Given the description of an element on the screen output the (x, y) to click on. 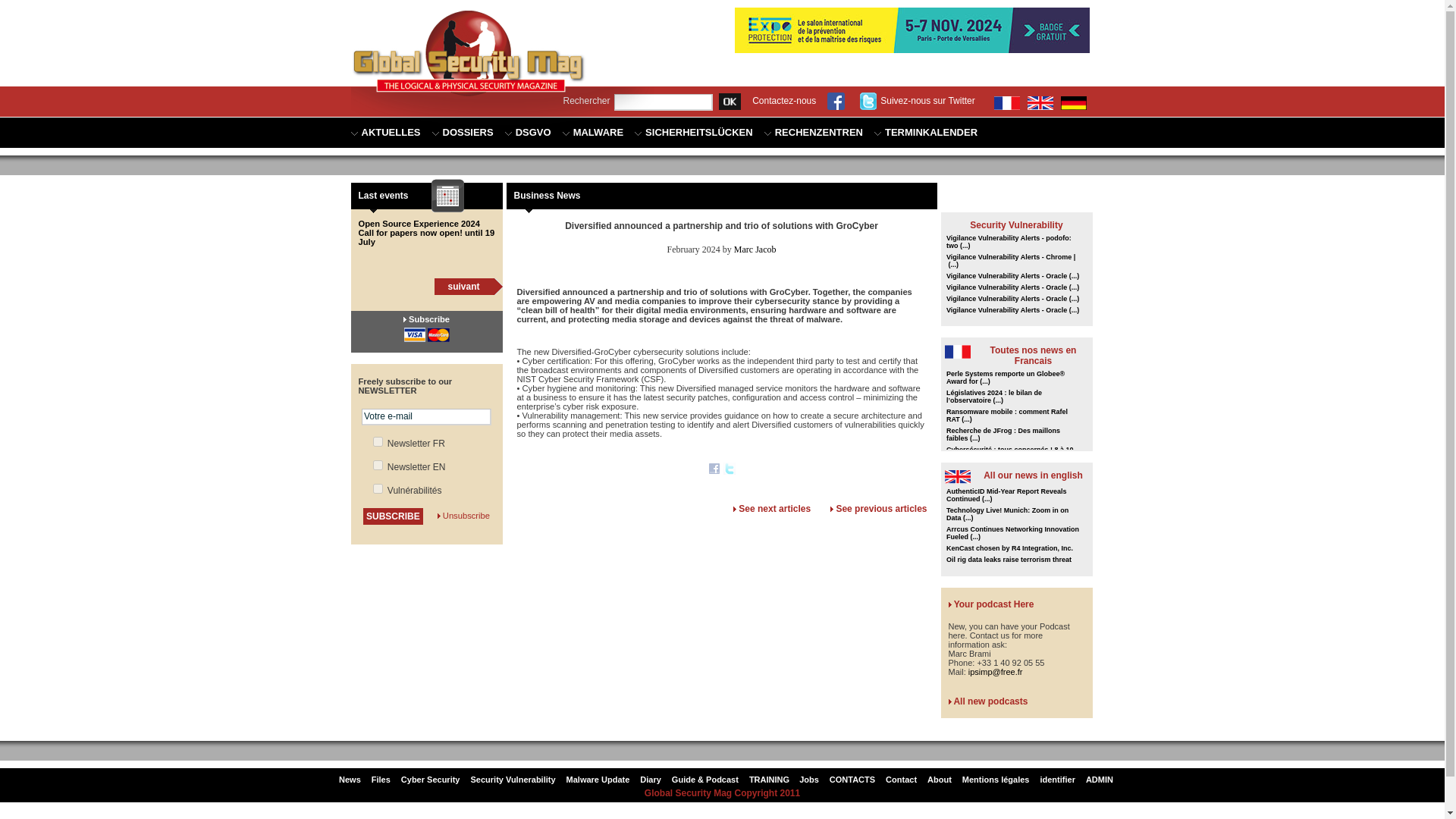
suivant (462, 285)
Security Vulnerability (1015, 225)
Facebook (713, 470)
signup (377, 441)
MALWARE (592, 132)
Subscribe (429, 317)
DOSSIERS (462, 132)
See next articles (774, 508)
Unsubscribe (465, 515)
Marc Jacob (754, 249)
signup (377, 488)
See previous articles (880, 508)
SUBSCRIBE (392, 515)
TERMINKALENDER (925, 132)
